Given the description of an element on the screen output the (x, y) to click on. 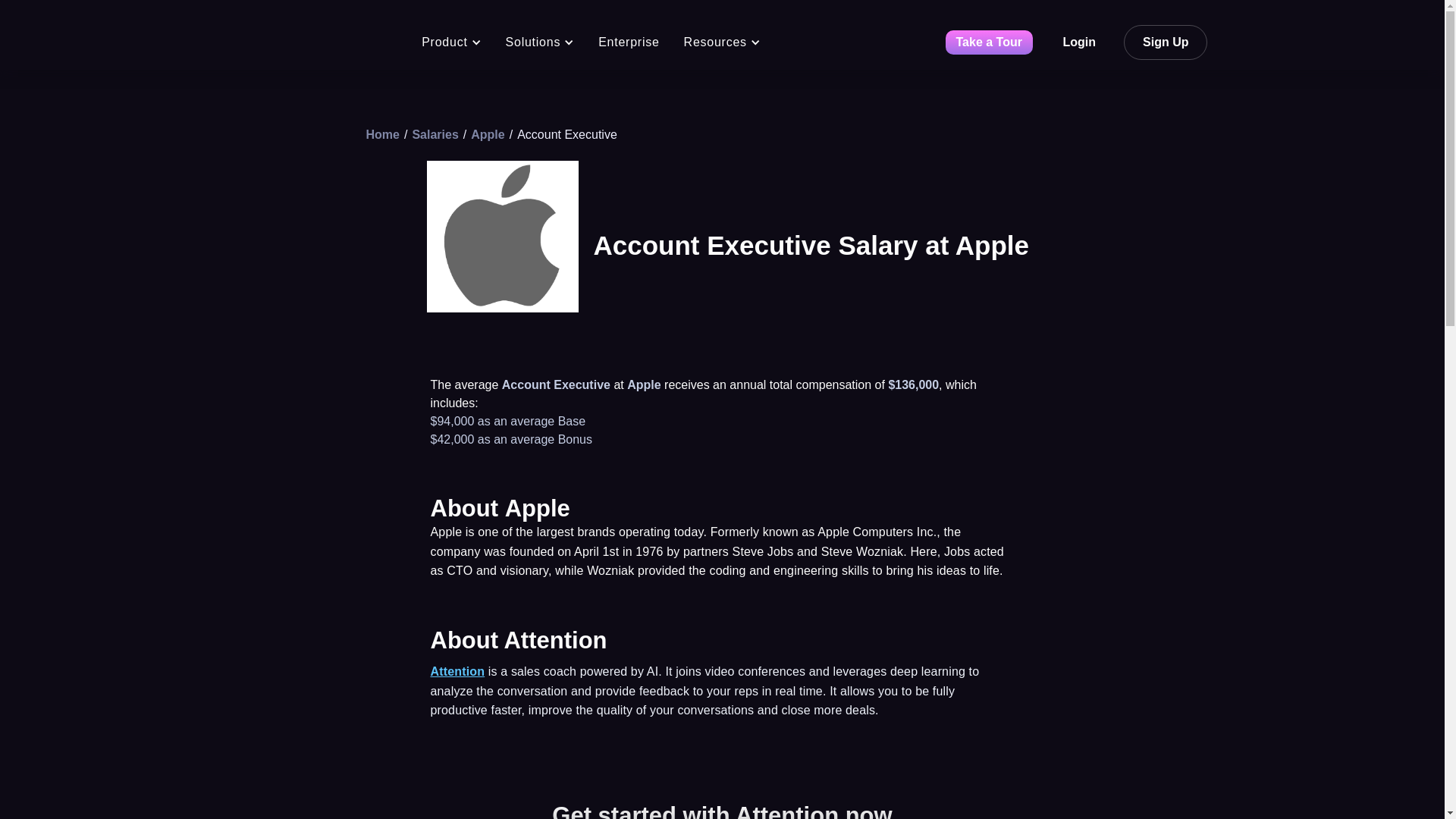
Sign Up (1165, 42)
Take a Tour (988, 42)
Enterprise (628, 42)
Home (381, 133)
Attention (457, 671)
Salaries (435, 133)
Apple (486, 133)
Login (1079, 42)
